Given the description of an element on the screen output the (x, y) to click on. 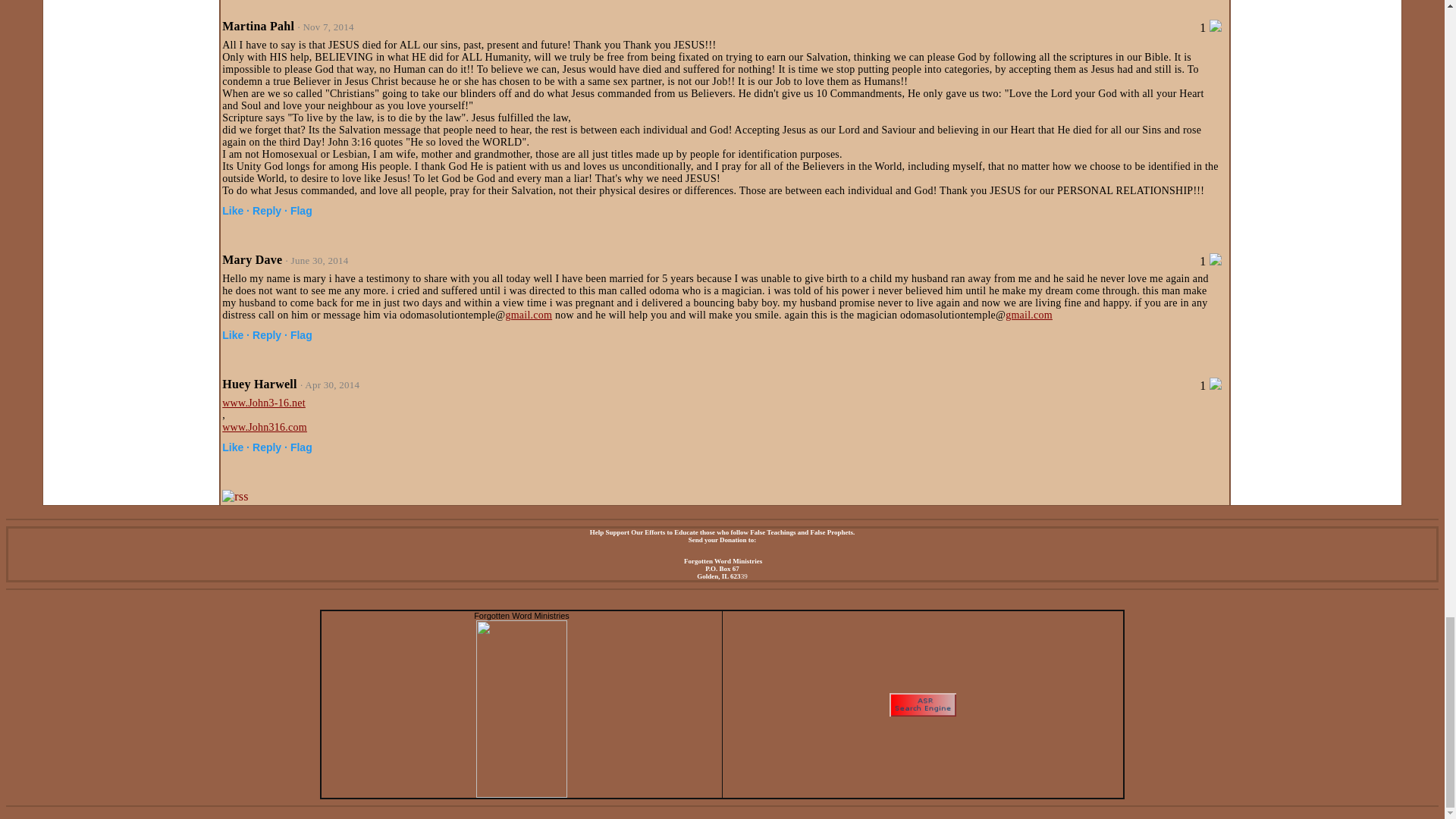
Forgotten Word Ministries (521, 614)
Forgotten Word Ministries (521, 792)
